Given the description of an element on the screen output the (x, y) to click on. 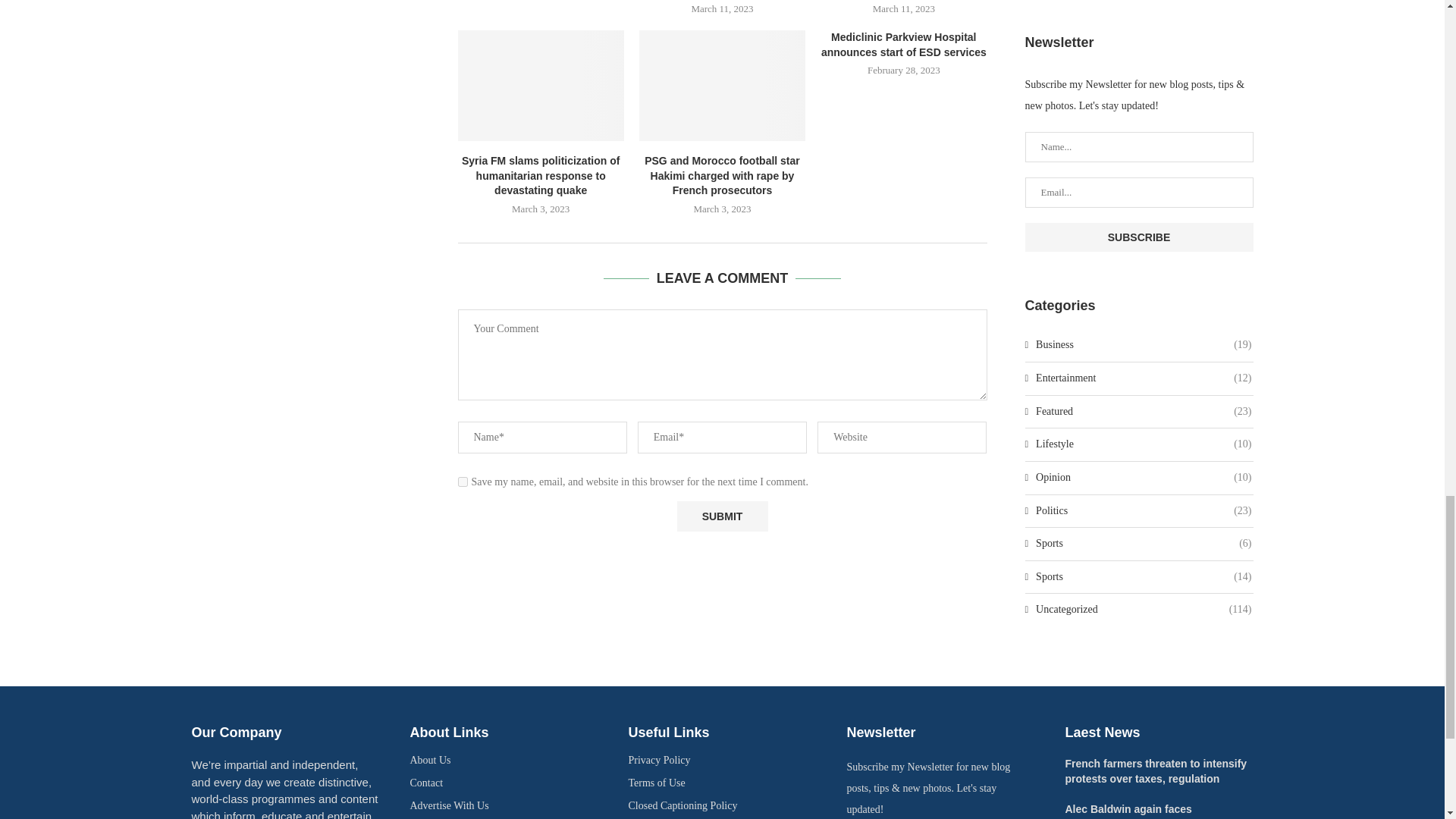
Submit (722, 516)
yes (462, 481)
Subscribe (1139, 236)
